Given the description of an element on the screen output the (x, y) to click on. 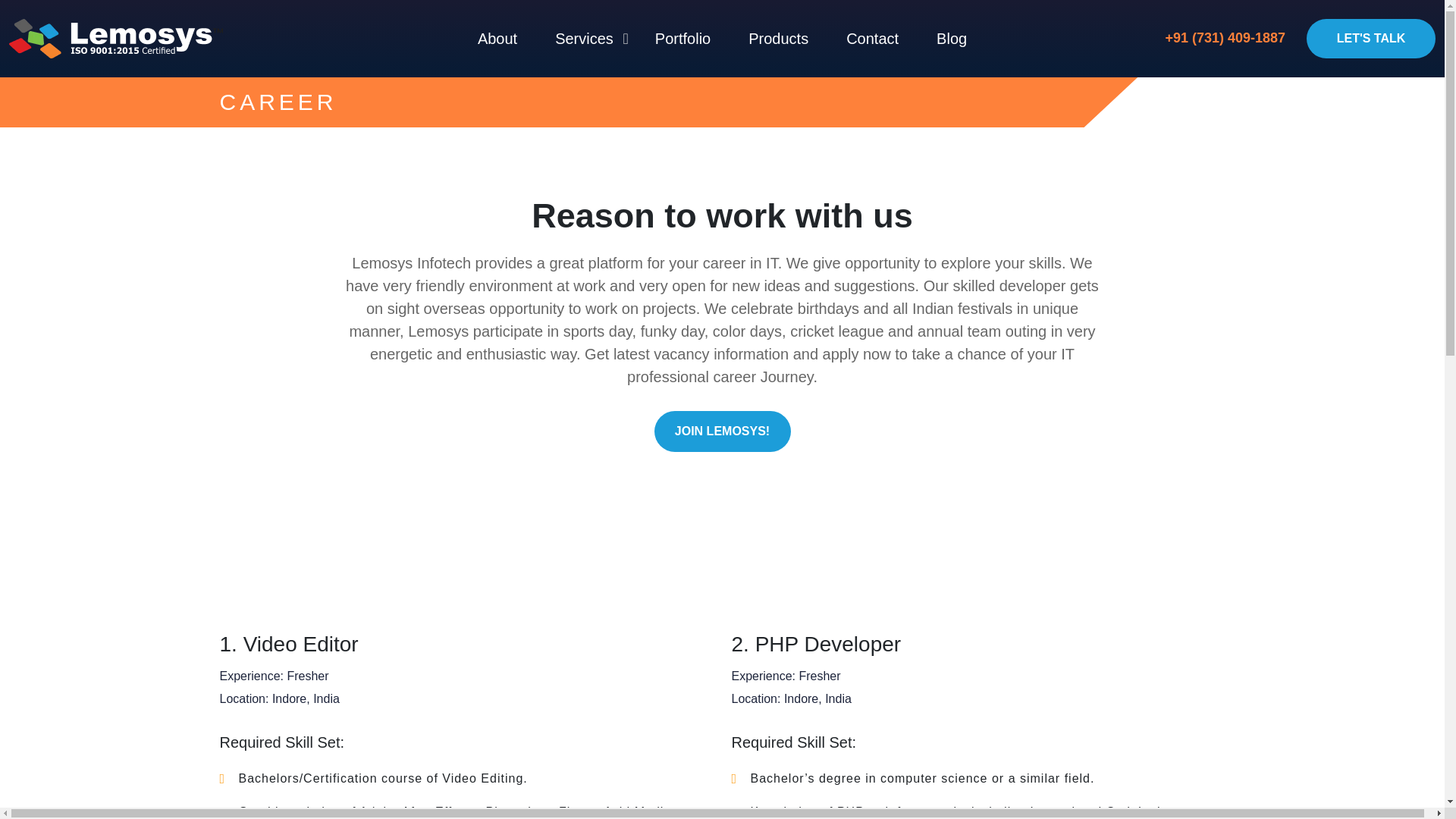
LET'S TALK (1370, 37)
Contact (872, 38)
About (496, 38)
Products (778, 38)
Portfolio (682, 38)
JOIN LEMOSYS! (721, 431)
Blog (951, 38)
Services (585, 38)
